Given the description of an element on the screen output the (x, y) to click on. 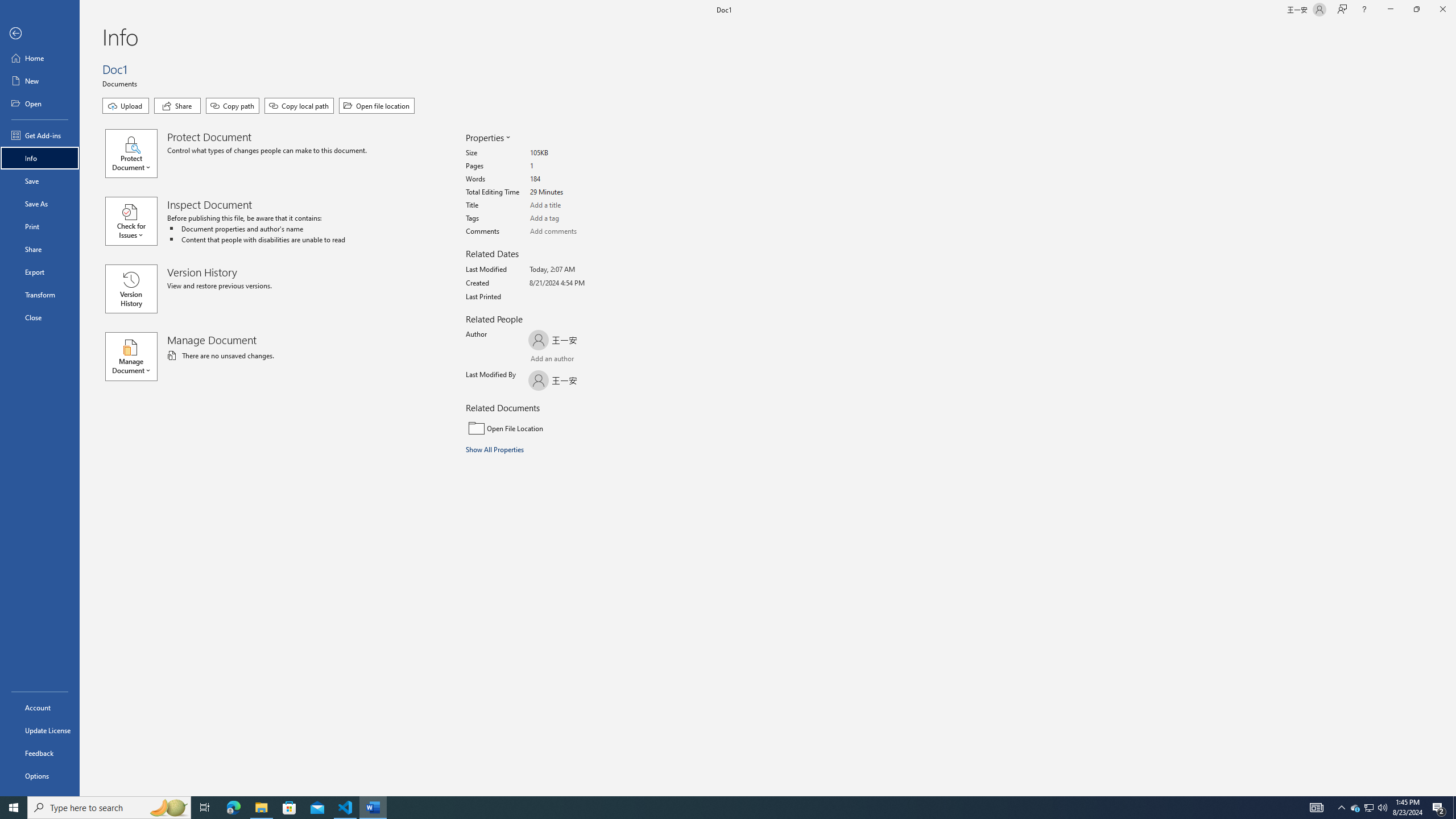
Browse Address Book (595, 359)
Export (40, 271)
Size (572, 153)
Manage Document (135, 356)
Version History (130, 288)
Account (40, 707)
Update License (40, 730)
Check for Issues (135, 220)
Total Editing Time (572, 192)
Upload (124, 105)
